Given the description of an element on the screen output the (x, y) to click on. 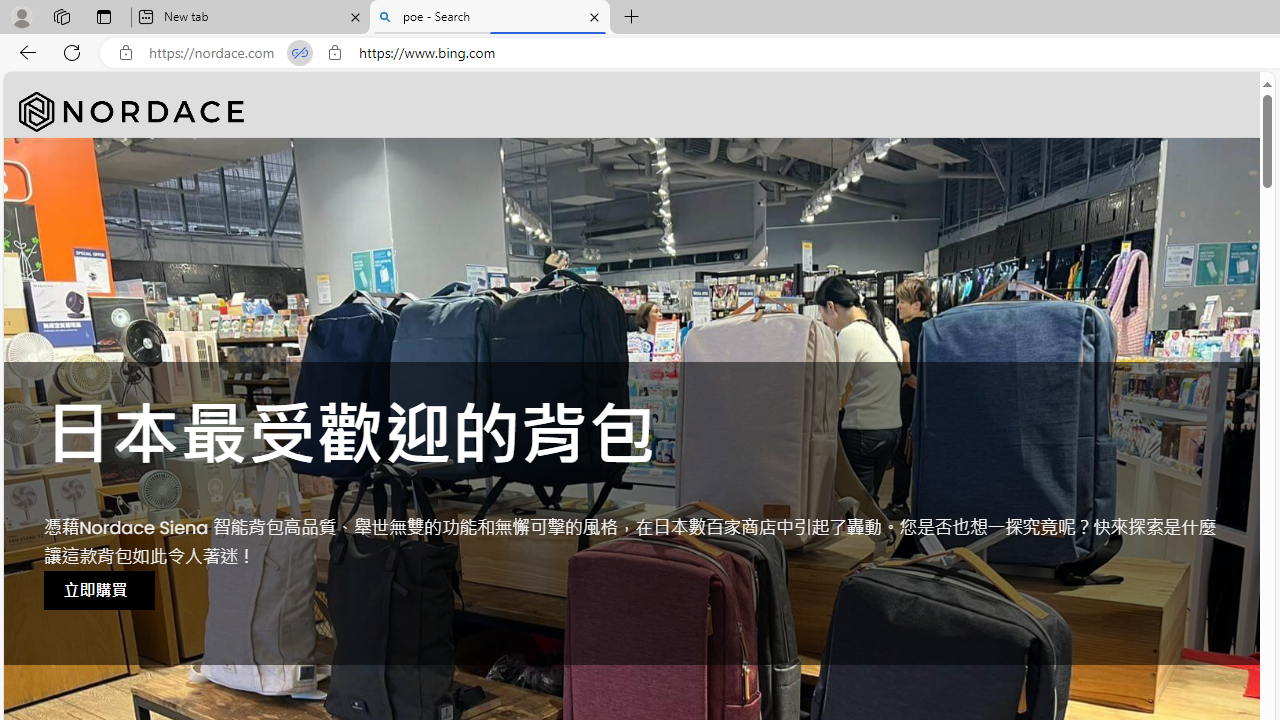
poe - Search (490, 17)
Tabs in split screen (299, 53)
